Given the description of an element on the screen output the (x, y) to click on. 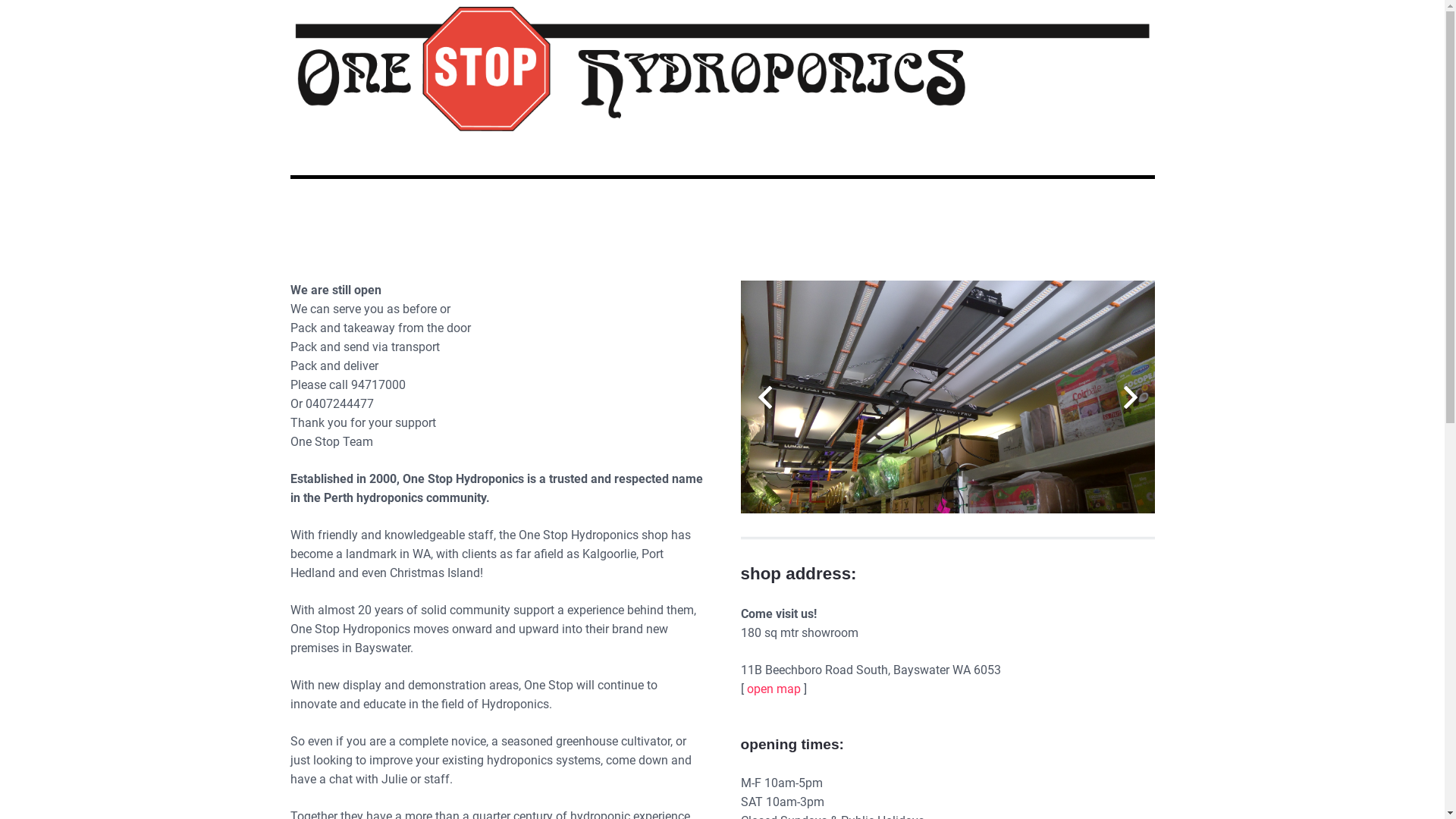
open map Element type: text (773, 688)
